Given the description of an element on the screen output the (x, y) to click on. 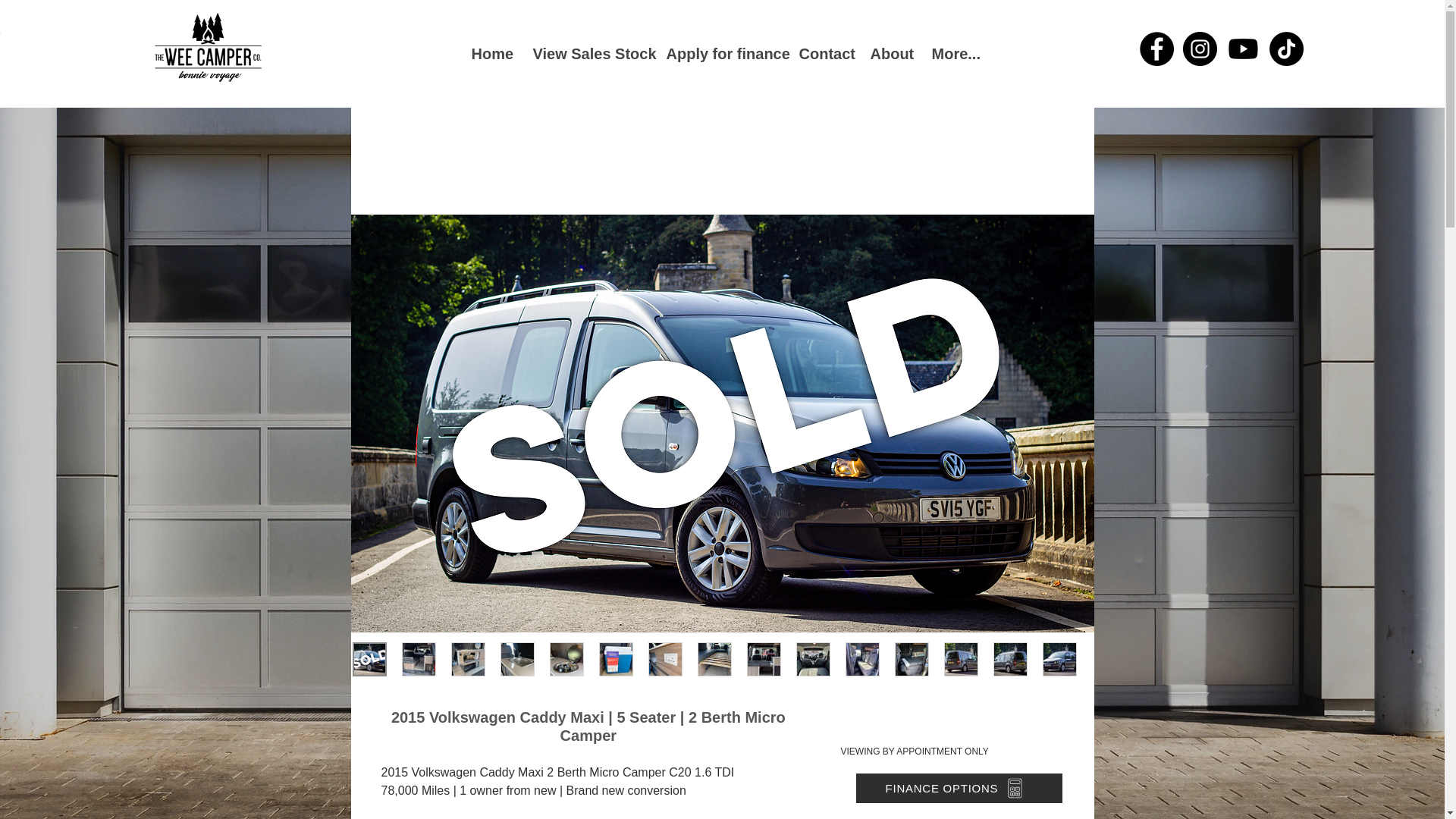
Apply for finance (721, 53)
View Sales Stock (587, 53)
FINANCE OPTIONS (958, 788)
